Given the description of an element on the screen output the (x, y) to click on. 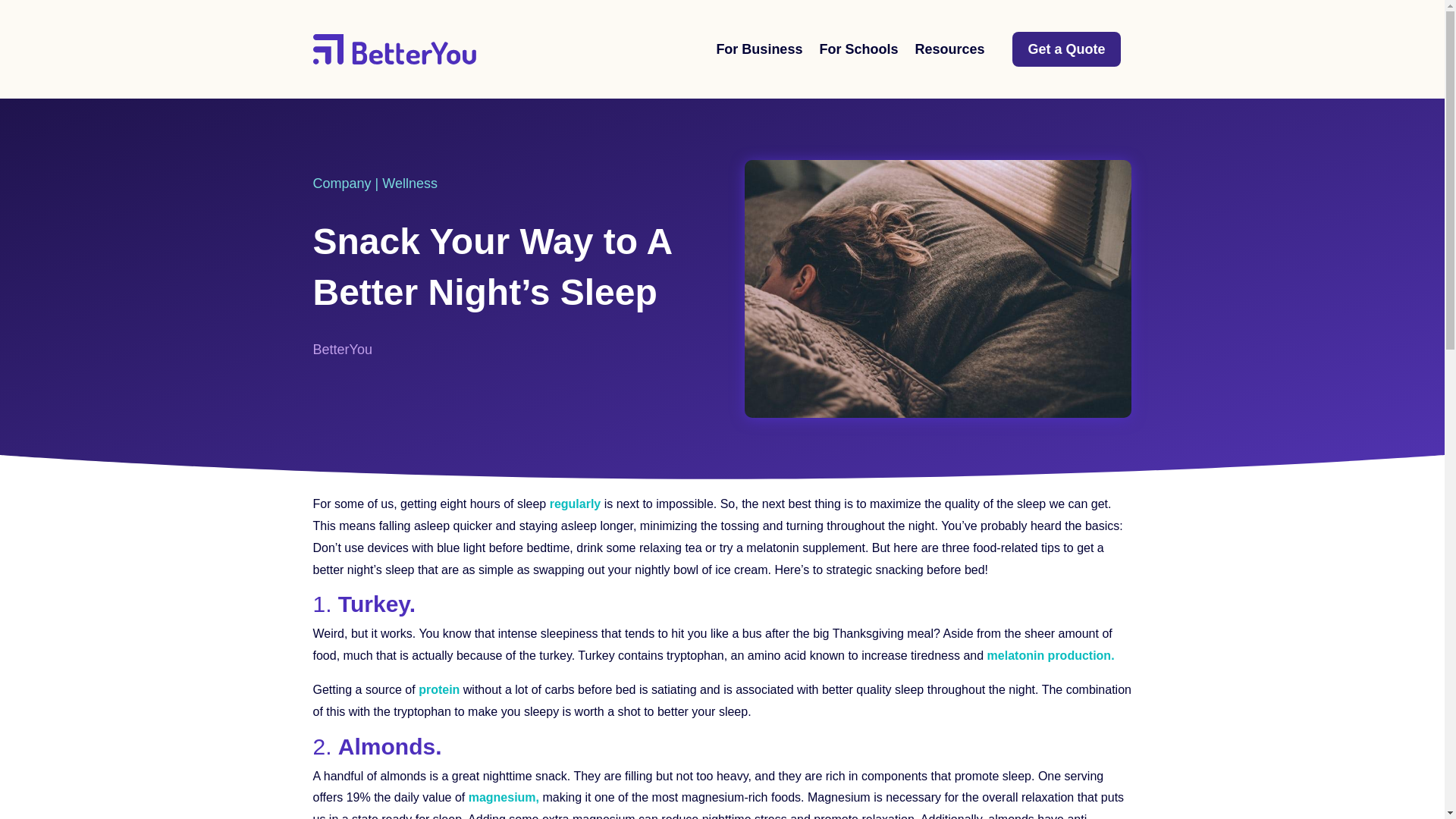
melatonin production. (1051, 655)
Resources (949, 48)
regularly (575, 503)
magnesium, (505, 797)
Company (342, 183)
For Schools (858, 48)
Wellness (409, 183)
For Business (759, 48)
reading-betterbot (937, 288)
protein (439, 689)
Get a Quote (1065, 48)
